Given the description of an element on the screen output the (x, y) to click on. 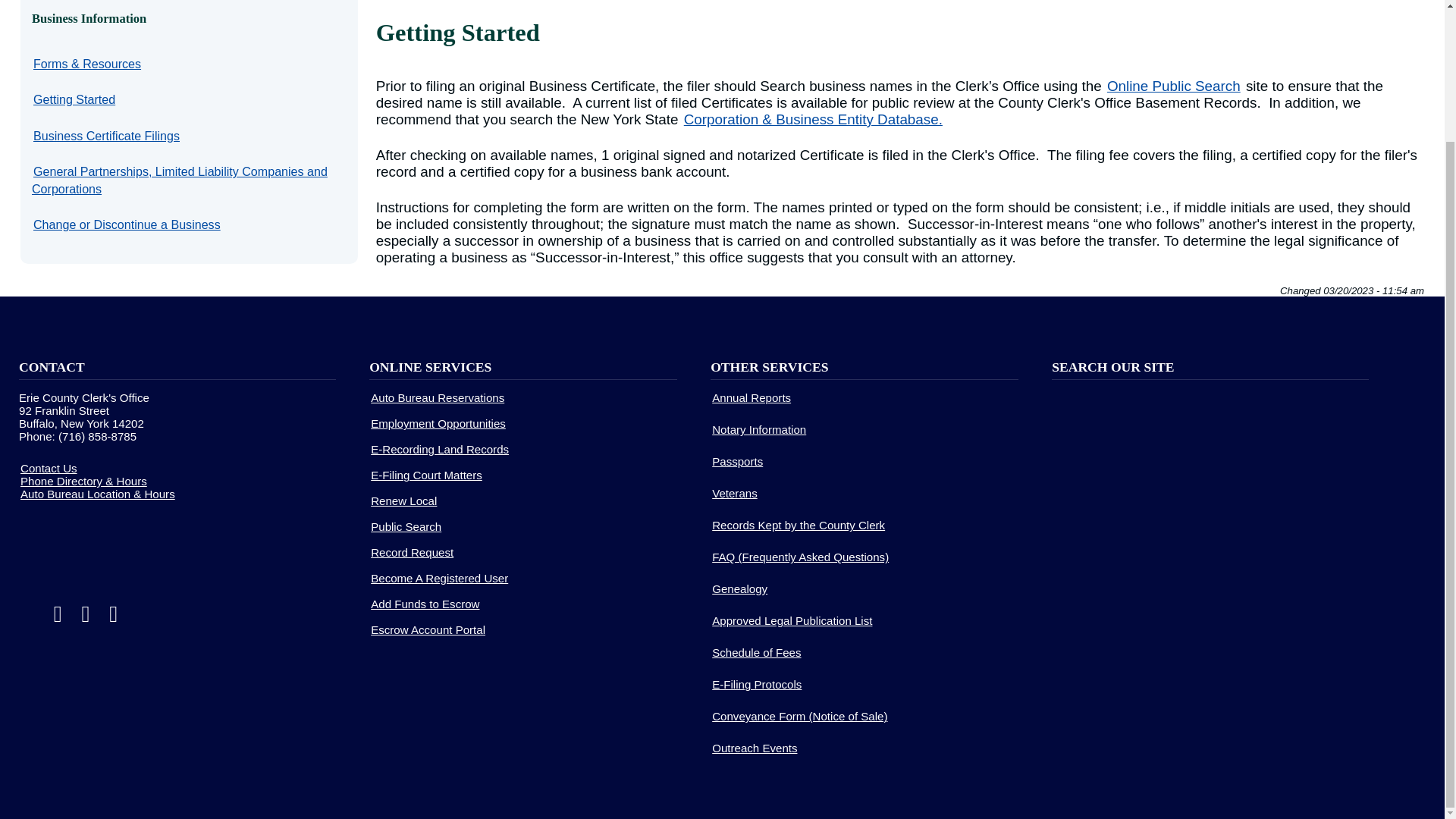
Auto Bureau Reservations (437, 397)
E-Recording Land Records (440, 449)
Notary Information (759, 429)
Become A Registered User (439, 578)
Veterans (734, 493)
Renew Local (403, 500)
Add Funds to Escrow (424, 603)
Change or Discontinue a Business (127, 224)
Public Search (405, 526)
Annual Reports (751, 397)
Online Public Search (1173, 85)
Employment Opportunities (437, 423)
Contact Us (48, 467)
E-Filing Court Matters (426, 474)
